Given the description of an element on the screen output the (x, y) to click on. 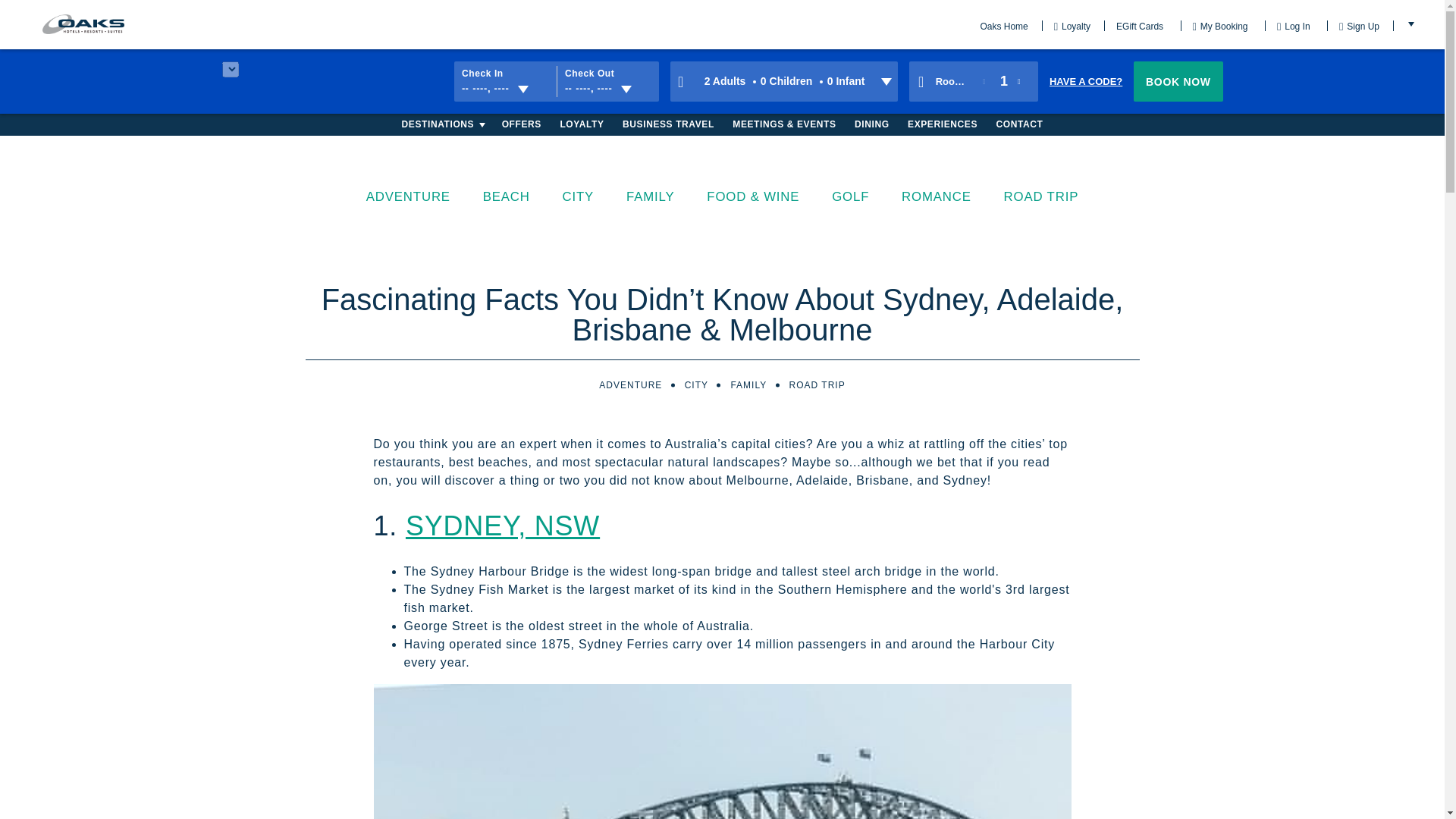
Decrease number (986, 81)
1 (607, 81)
HAVE A CODE? (1003, 81)
My Booking (1084, 81)
Loyalty (504, 81)
Oaks Home (1214, 26)
Sign Up (1067, 26)
EGift Cards (1004, 26)
